Given the description of an element on the screen output the (x, y) to click on. 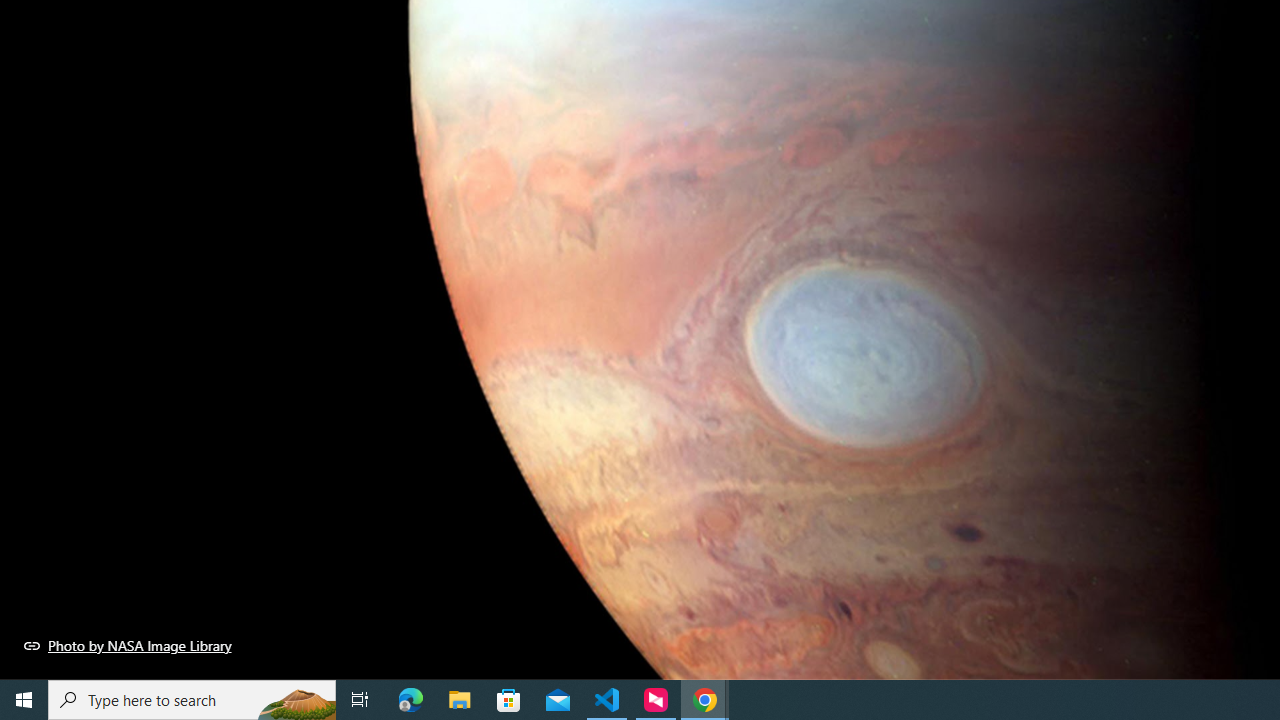
Photo by NASA Image Library (127, 645)
